Given the description of an element on the screen output the (x, y) to click on. 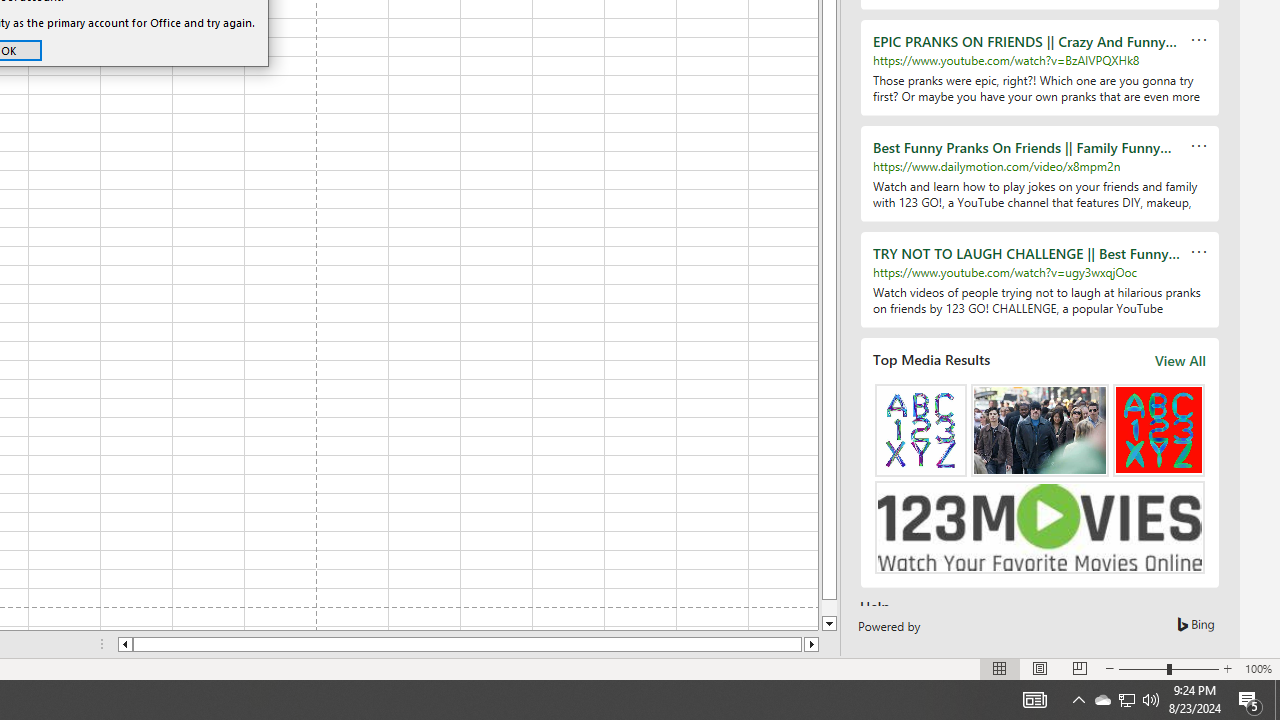
Show desktop (1102, 699)
